Given the description of an element on the screen output the (x, y) to click on. 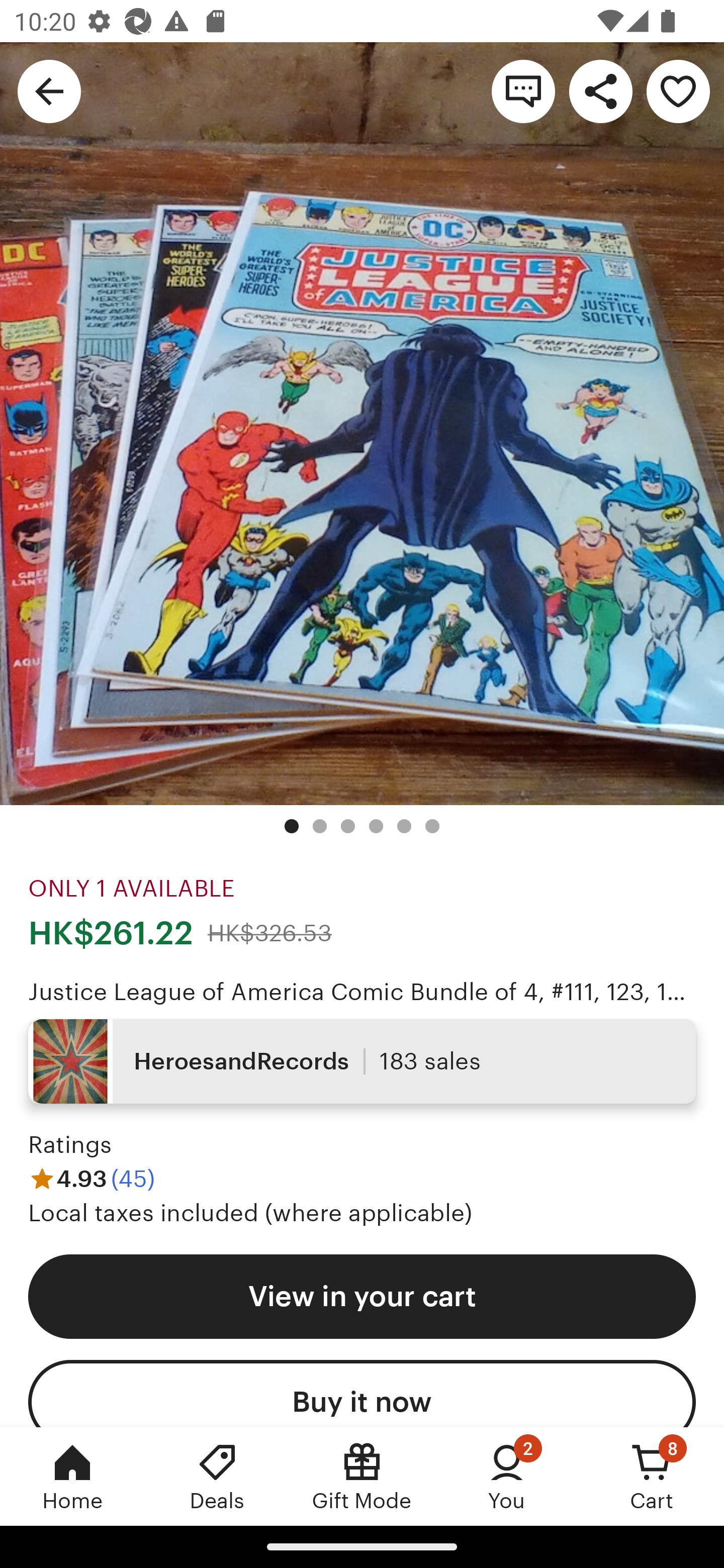
Navigate up (49, 90)
Contact shop (523, 90)
Share (600, 90)
HeroesandRecords 183 sales (361, 1061)
Ratings (70, 1144)
4.93 (45) (91, 1179)
View in your cart (361, 1296)
Buy it now (361, 1392)
Deals (216, 1475)
Gift Mode (361, 1475)
You, 2 new notifications You (506, 1475)
Cart, 8 new notifications Cart (651, 1475)
